Given the description of an element on the screen output the (x, y) to click on. 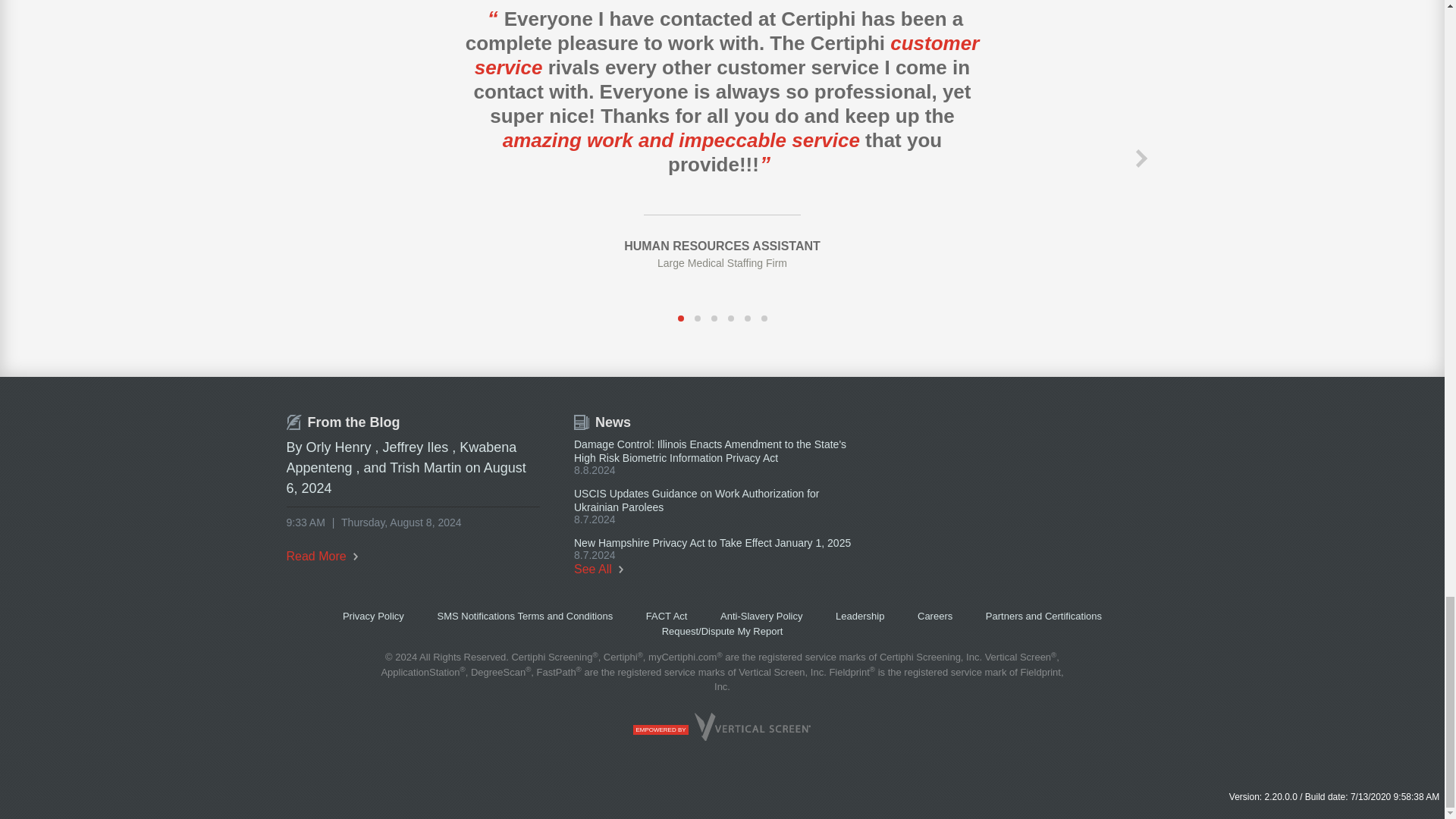
From the Blog (343, 421)
New Hampshire Privacy Act to Take Effect January 1, 2025 (711, 542)
See All (598, 568)
Read More (322, 555)
News (601, 421)
